Given the description of an element on the screen output the (x, y) to click on. 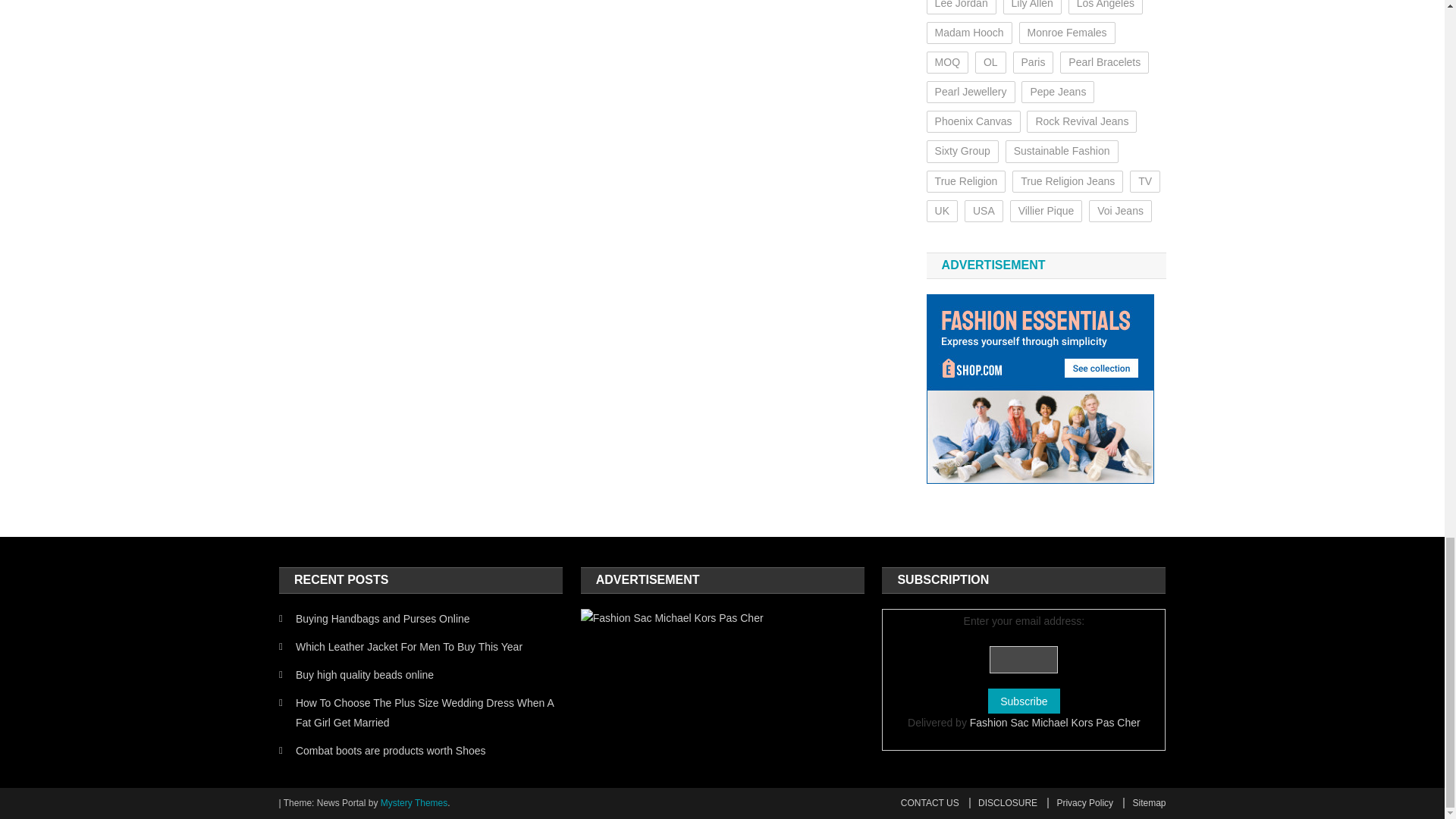
Subscribe (1023, 700)
